Given the description of an element on the screen output the (x, y) to click on. 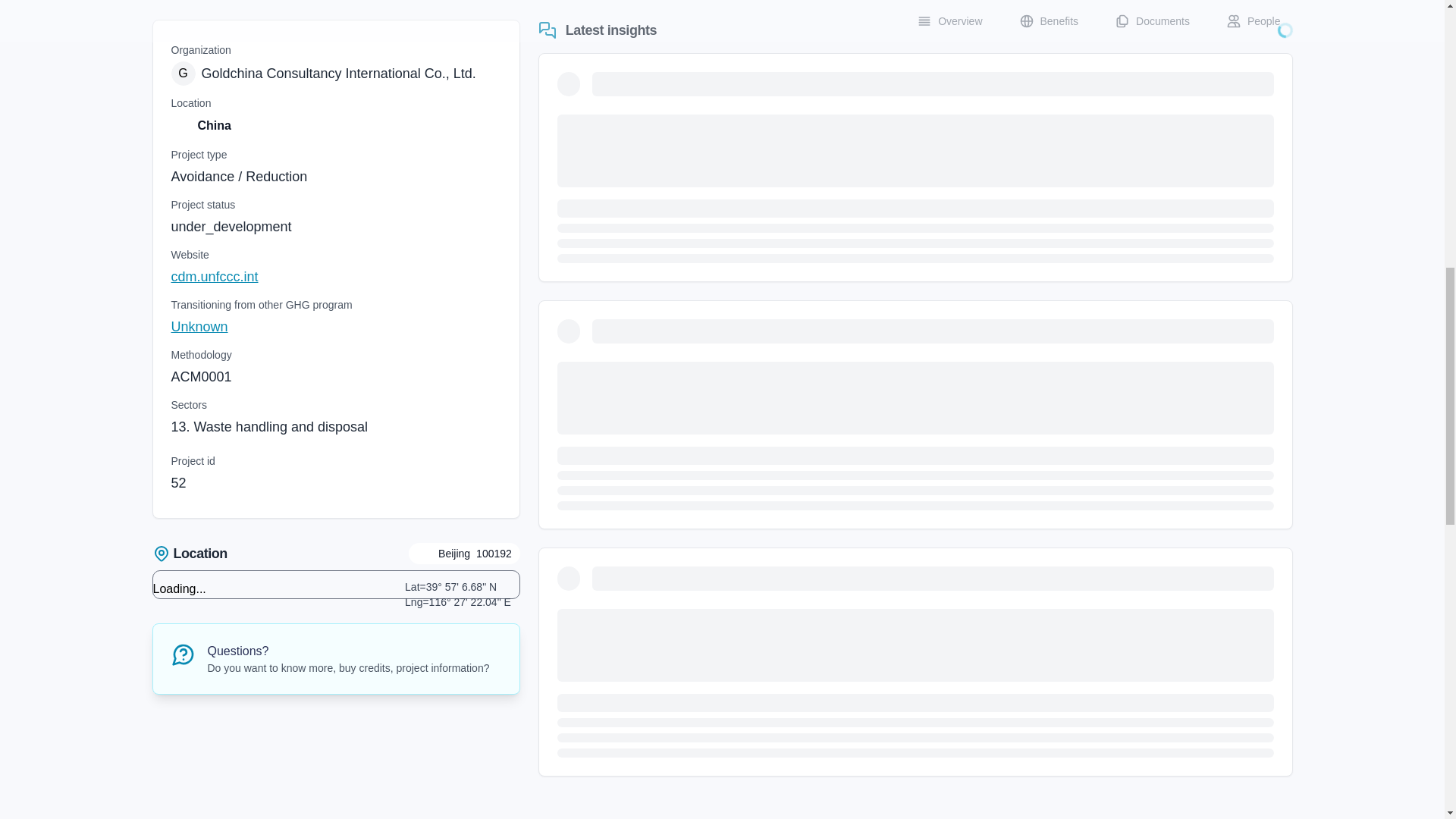
ACM0001 (201, 376)
Location (335, 73)
cdm.unfccc.int (189, 553)
Latest insights (335, 276)
Unknown (597, 29)
